Given the description of an element on the screen output the (x, y) to click on. 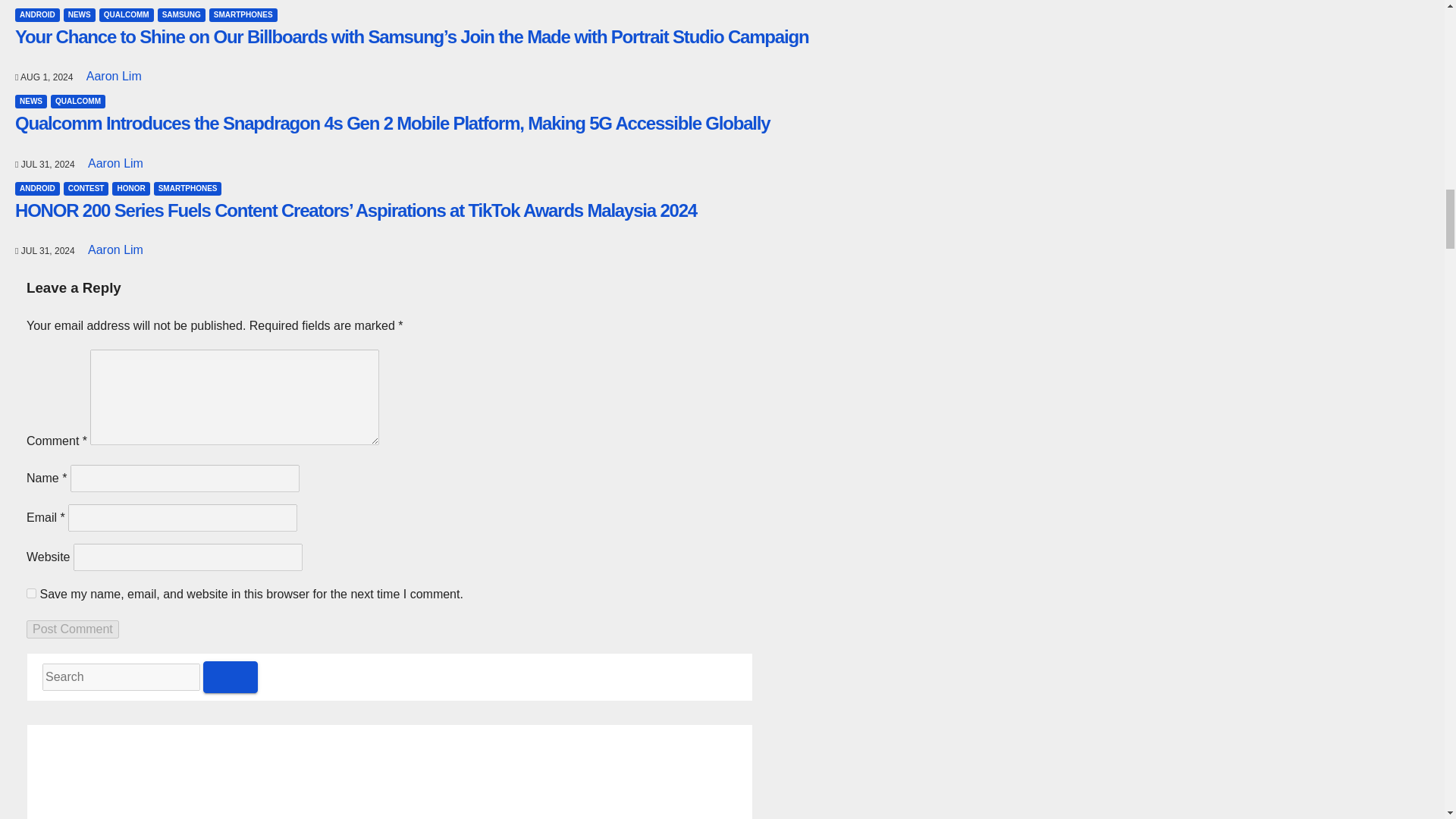
Post Comment (72, 628)
yes (31, 593)
